Given the description of an element on the screen output the (x, y) to click on. 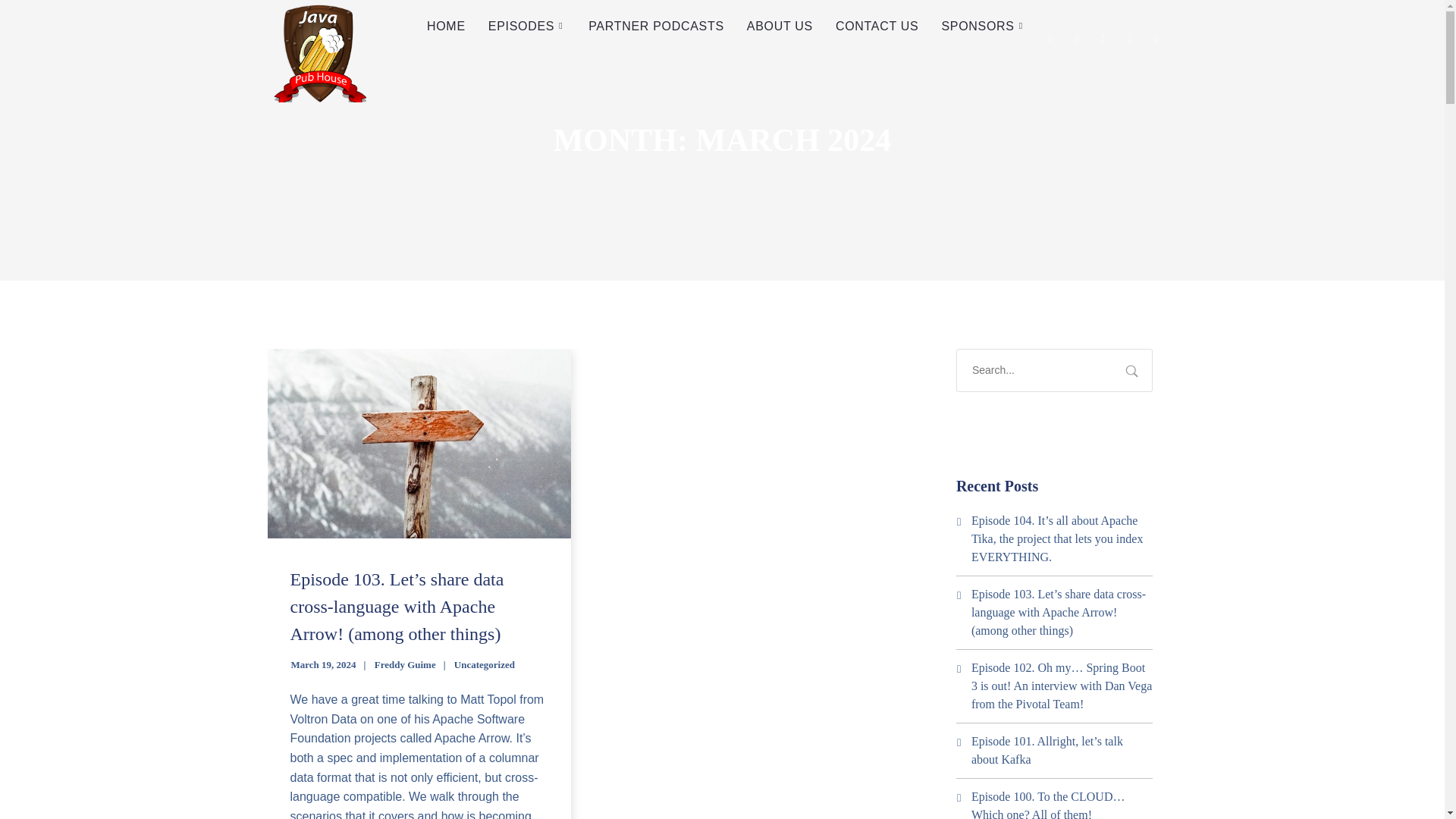
Freddy Guime (404, 664)
CONTACT US (877, 26)
PARTNER PODCASTS (655, 26)
HOME (445, 26)
Uncategorized (484, 664)
March 19, 2024 (323, 664)
EPISODES (526, 26)
Java Pub House (315, 51)
ABOUT US (779, 26)
SPONSORS (983, 26)
